Given the description of an element on the screen output the (x, y) to click on. 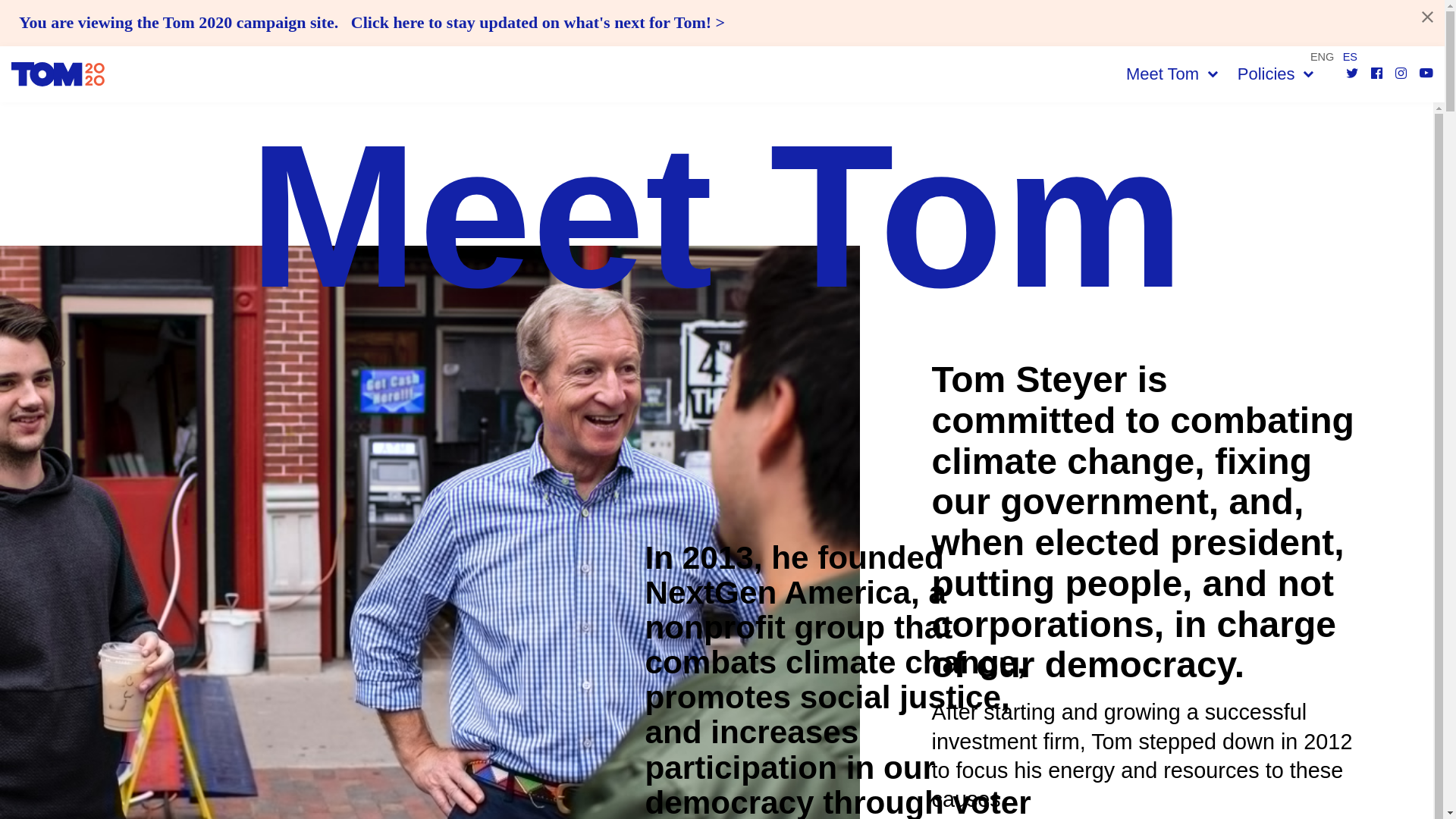
Meet Tom (1171, 73)
Policies (1275, 73)
ENG (1321, 56)
Follow Tom on Facebook (1378, 73)
Skip to Content (15, 7)
Follow Tom on Twitter (1353, 73)
Follow Tom on Instagram (1402, 73)
Follow Tom on YouTube (1425, 73)
ES (1349, 56)
